Given the description of an element on the screen output the (x, y) to click on. 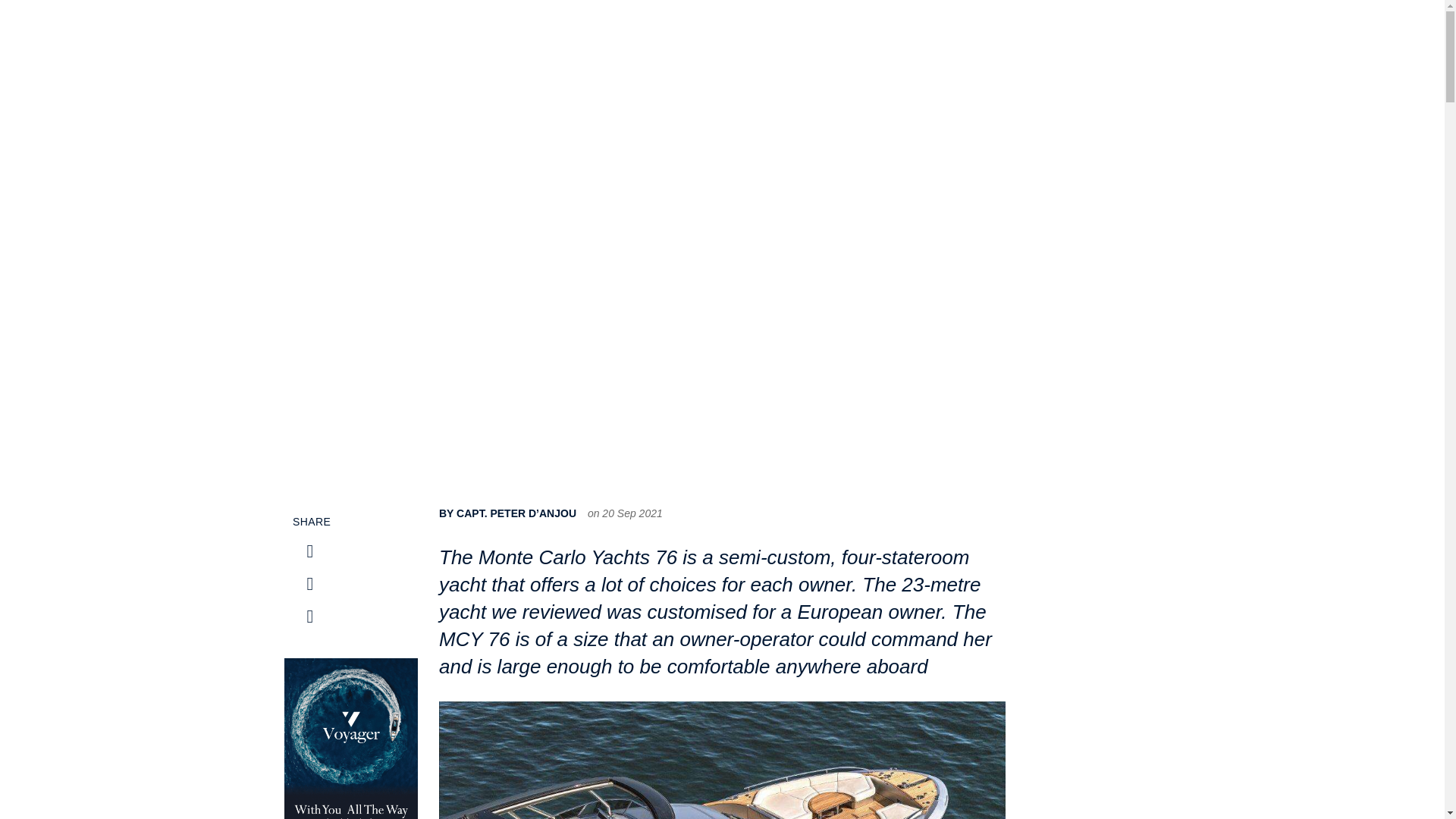
SUBSCRIBE (1277, 49)
Instagram (309, 583)
Contact (1175, 50)
Blue Planet (961, 50)
Toys (1018, 50)
Events (1062, 50)
Industry (789, 50)
People (842, 50)
Share this on Facebook (309, 616)
Tweet this ! (309, 550)
Directory (1118, 50)
